Given the description of an element on the screen output the (x, y) to click on. 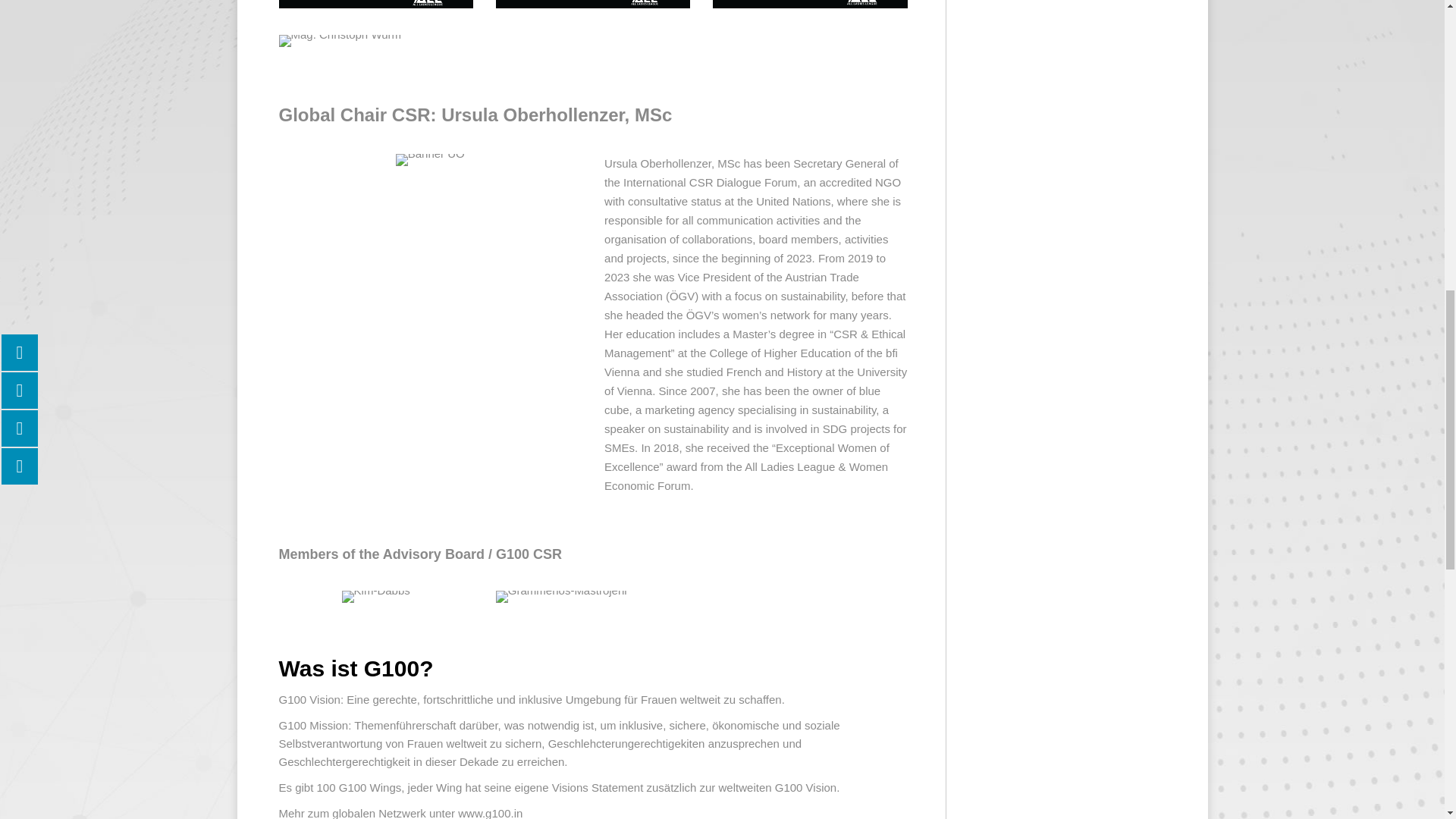
Kim-Dabbs (376, 596)
Mag. Christoph Wurm (340, 40)
Banner UO (430, 159)
Claudia-Rankers (810, 4)
DI-Sabine-Nadhern (593, 4)
Grammenos-Mastrojeni (561, 596)
Dr.-techn.-Anna (376, 4)
